Given the description of an element on the screen output the (x, y) to click on. 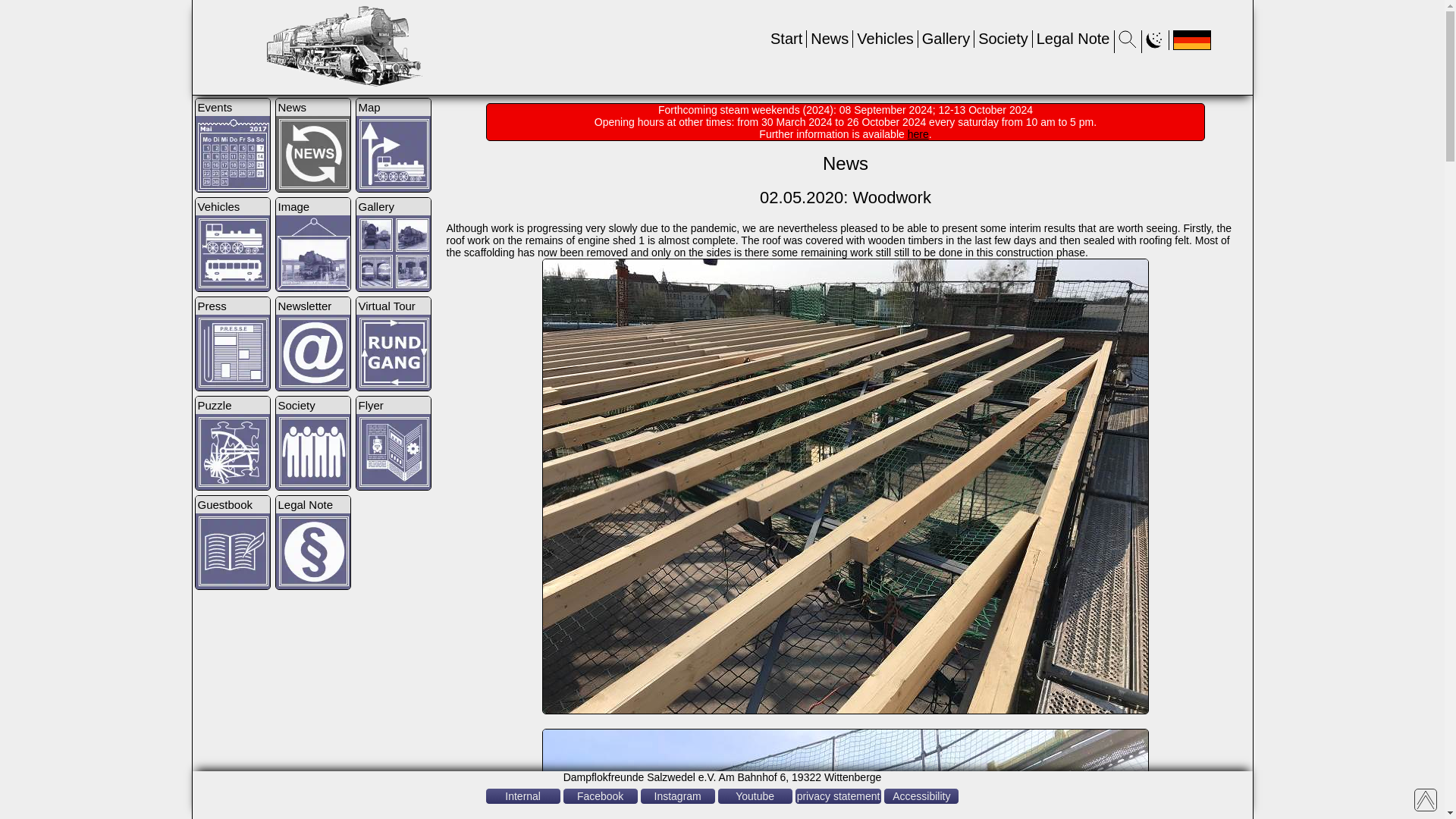
Society (1002, 38)
Start (786, 38)
Vehicles (885, 38)
Gallery (945, 38)
News (829, 38)
Legal Note (1072, 38)
